Given the description of an element on the screen output the (x, y) to click on. 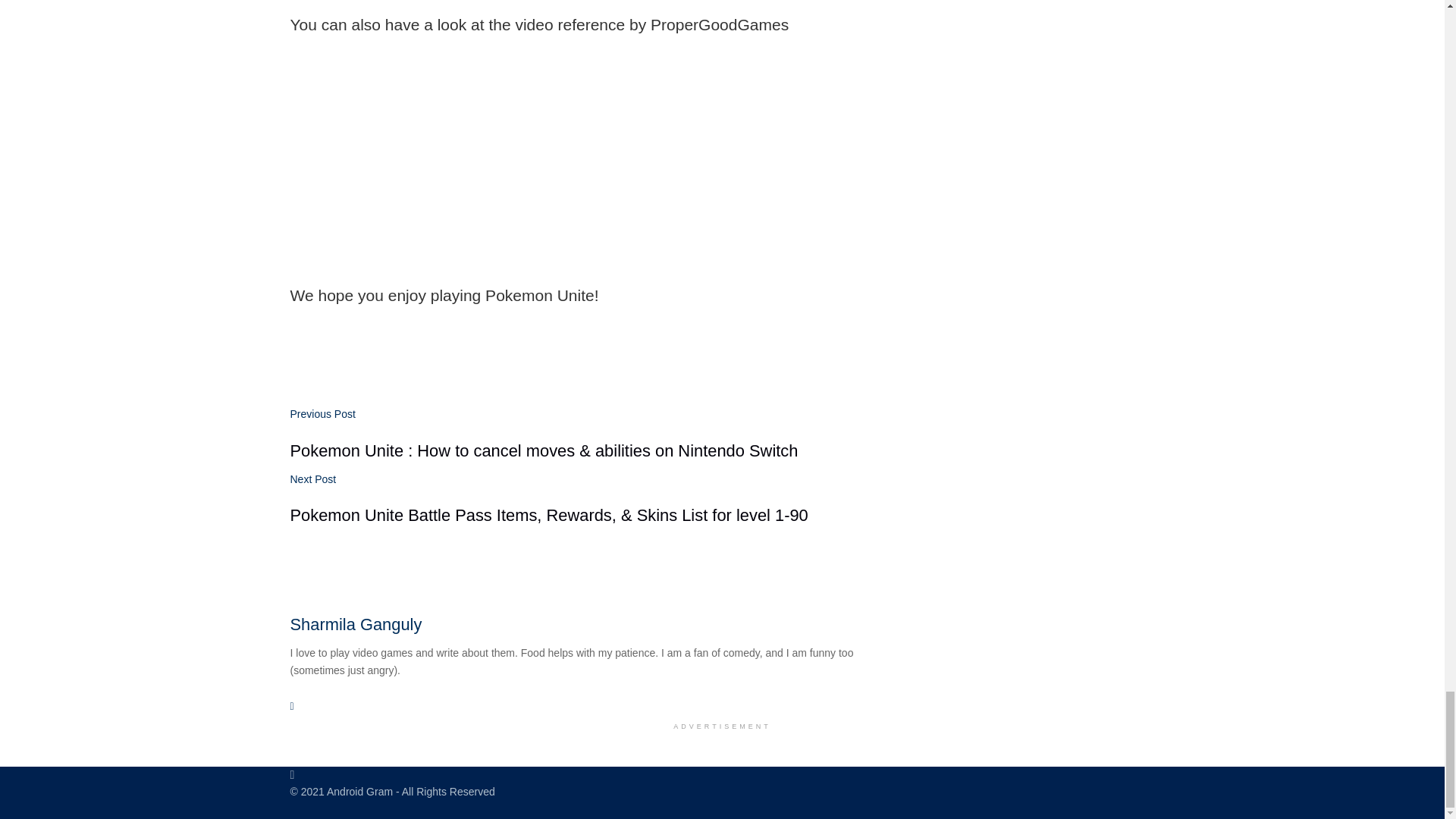
How to PLAY with FRIENDS on Pokemon Unite (478, 166)
